Given the description of an element on the screen output the (x, y) to click on. 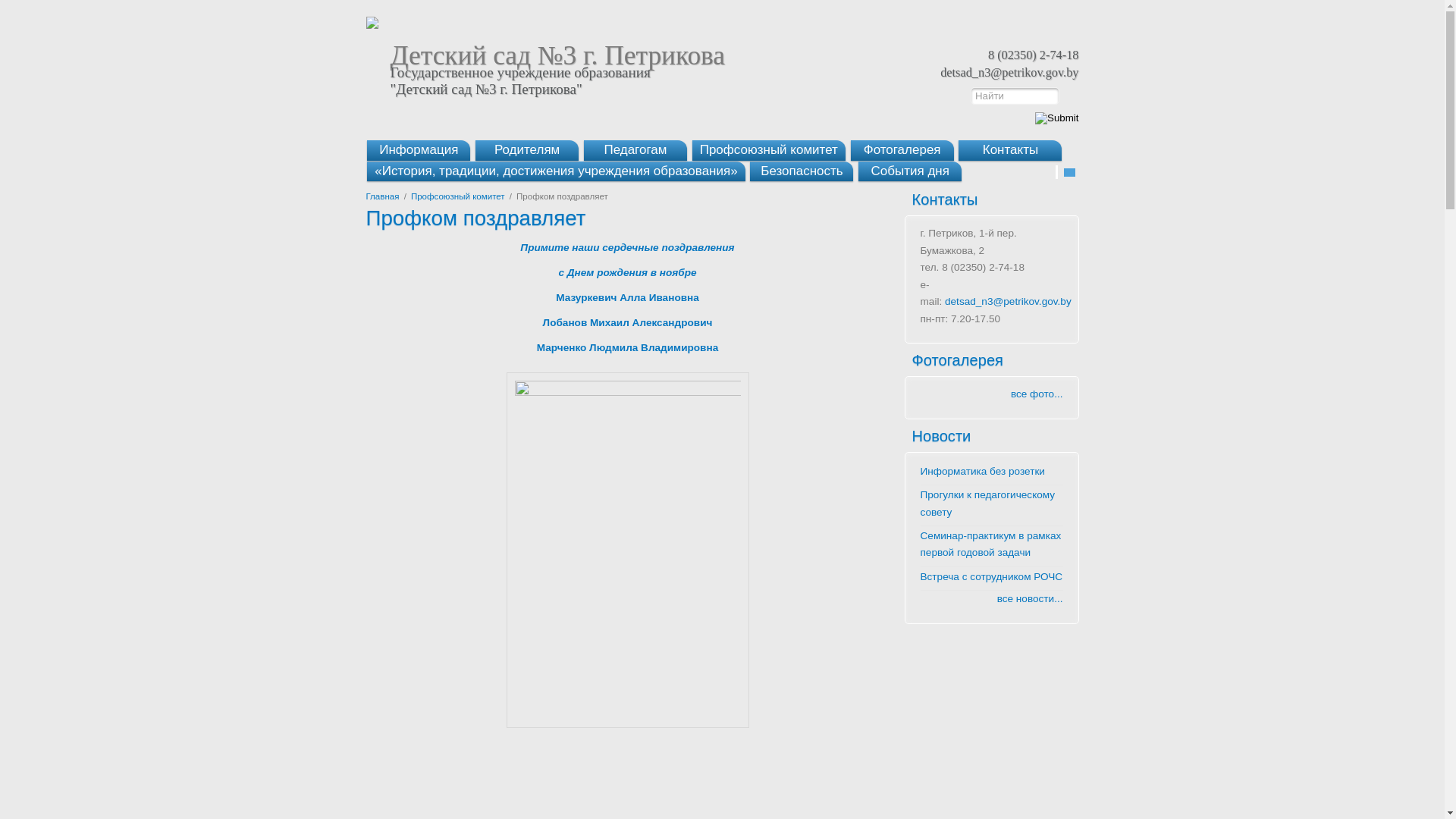
Send email Element type: hover (1069, 172)
Add to favorite Element type: hover (1045, 172)
detsad_n3@petrikov.gov.by Element type: text (1007, 301)
